Given the description of an element on the screen output the (x, y) to click on. 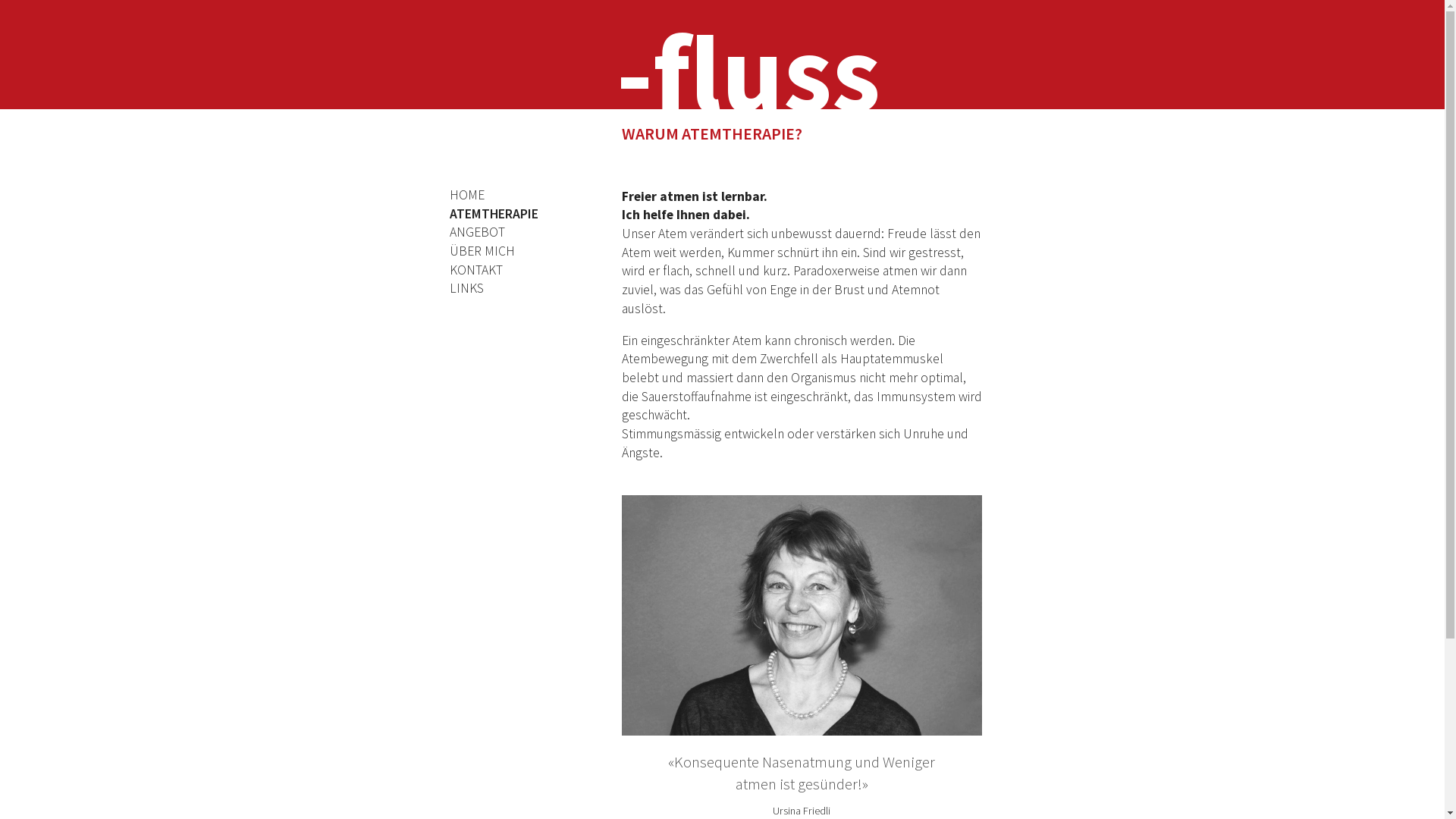
KONTAKT Element type: text (492, 269)
ANGEBOT Element type: text (492, 231)
LINKS Element type: text (492, 288)
HOME Element type: text (492, 194)
ATEMTHERAPIE Element type: text (492, 213)
